Given the description of an element on the screen output the (x, y) to click on. 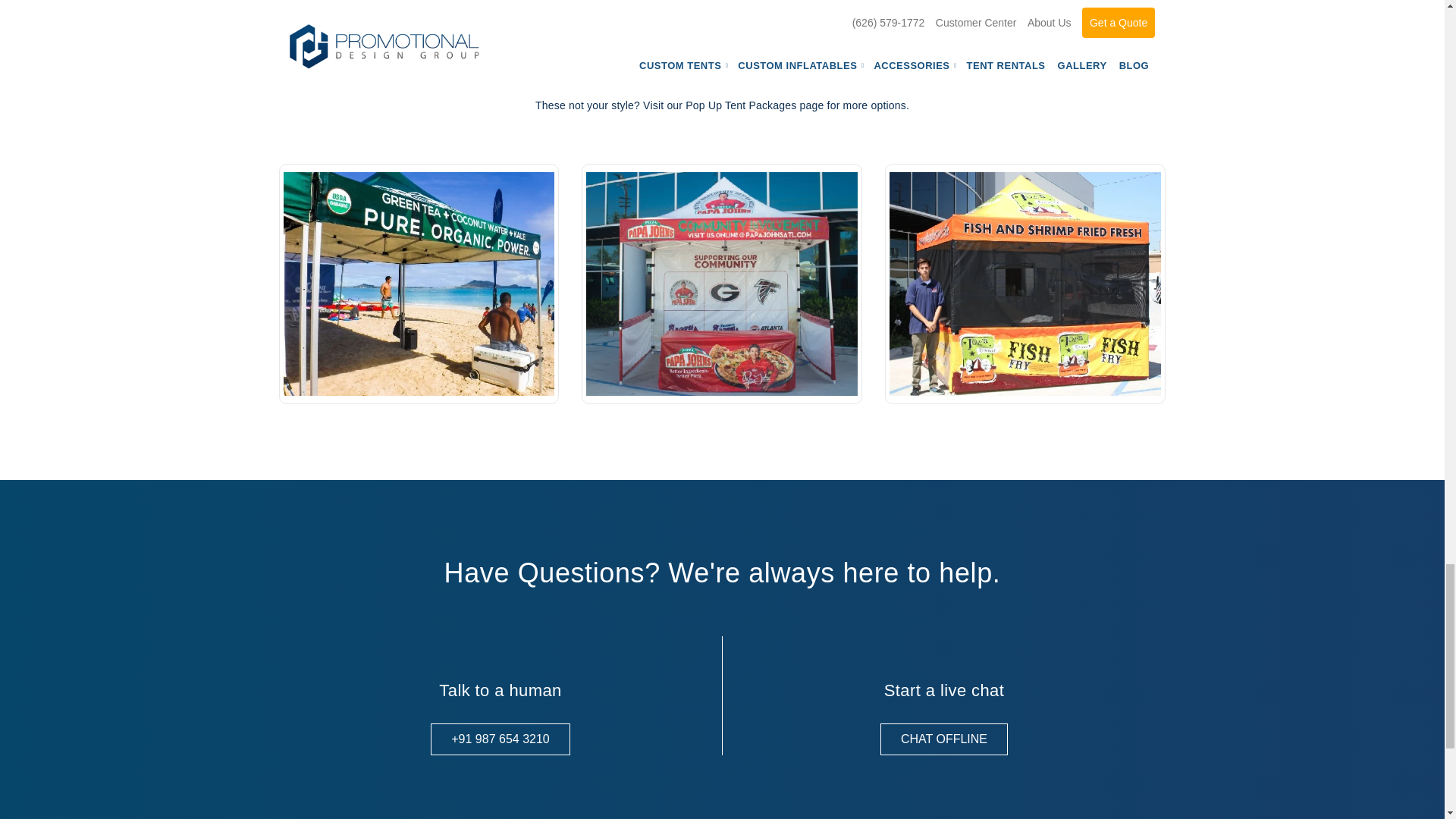
Joe's Fish Fry 10x10 Food Booth Canopy (1024, 283)
10x10 Gold Package Papa John's Pop Up Tent (721, 283)
10x0 green tea canopy (418, 283)
